Given the description of an element on the screen output the (x, y) to click on. 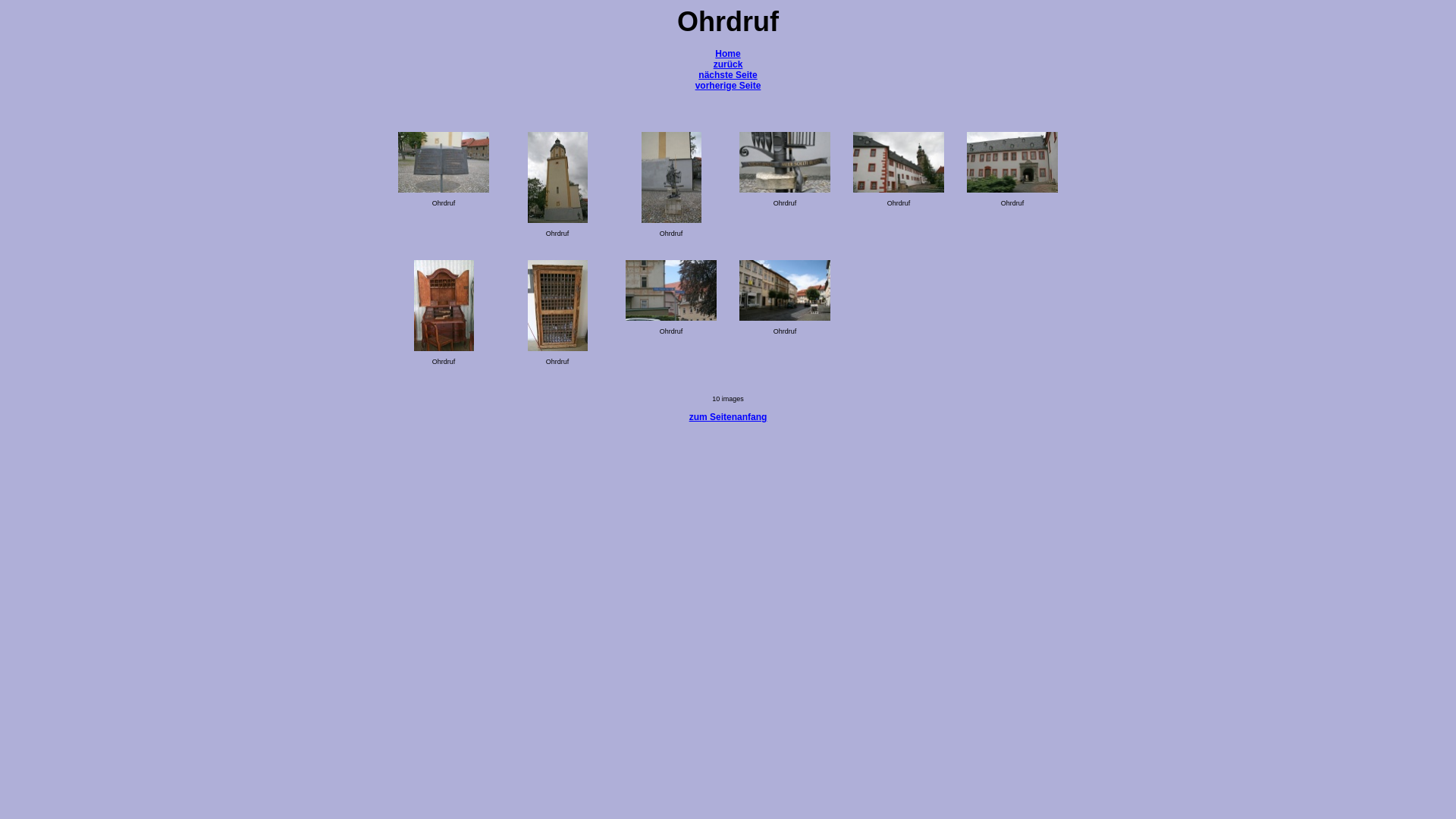
zum Seitenanfang Element type: text (728, 416)
Home Element type: text (727, 58)
vorherige Seite Element type: text (728, 85)
